Given the description of an element on the screen output the (x, y) to click on. 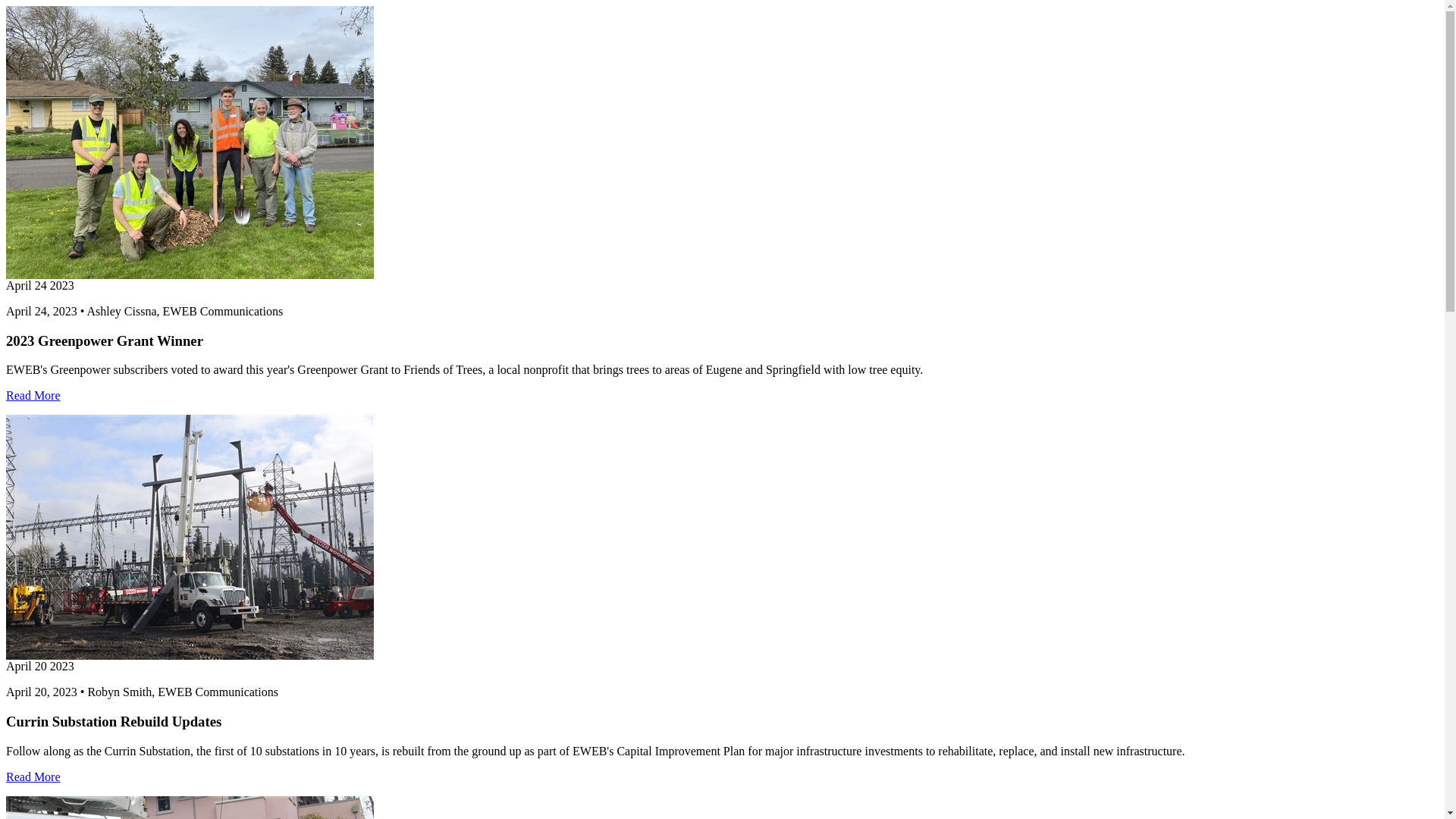
2023 Greenpower Grant Winner (33, 395)
Read More (33, 776)
Read More (33, 395)
Currin Substation Rebuild Updates (33, 776)
